Given the description of an element on the screen output the (x, y) to click on. 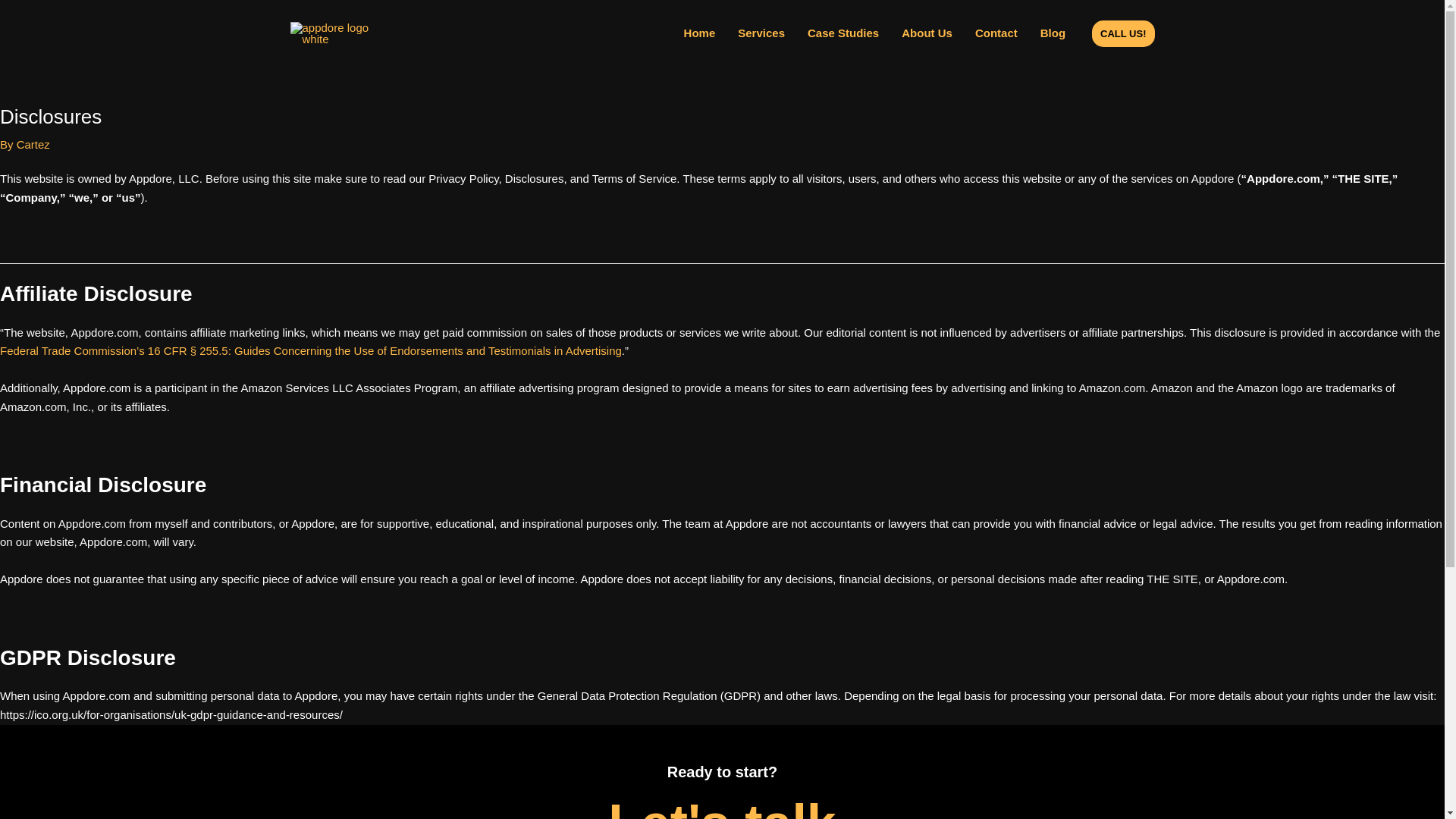
Blog (1053, 32)
About Us (926, 32)
Cartez (32, 144)
View all posts by Cartez (32, 144)
CALL US! (1123, 32)
Services (761, 32)
Let's talk (721, 806)
Contact (996, 32)
Case Studies (842, 32)
Home (699, 32)
